Given the description of an element on the screen output the (x, y) to click on. 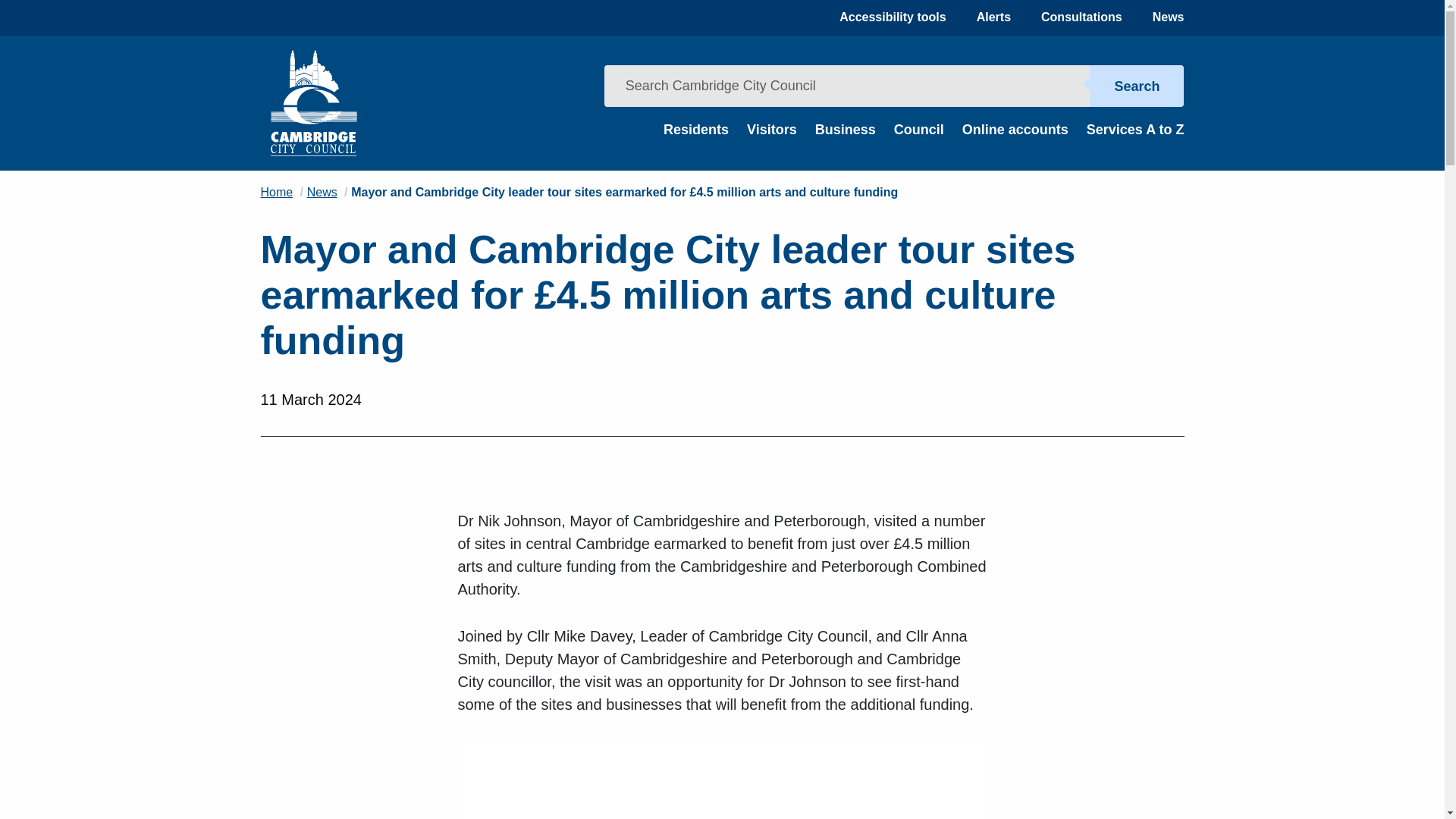
Alerts (993, 17)
Visitors (771, 129)
Business (845, 129)
News (1169, 17)
Home (277, 192)
News (322, 192)
Council (918, 129)
Search (1136, 85)
Consultations (1081, 17)
Accessibility tools (893, 17)
